Given the description of an element on the screen output the (x, y) to click on. 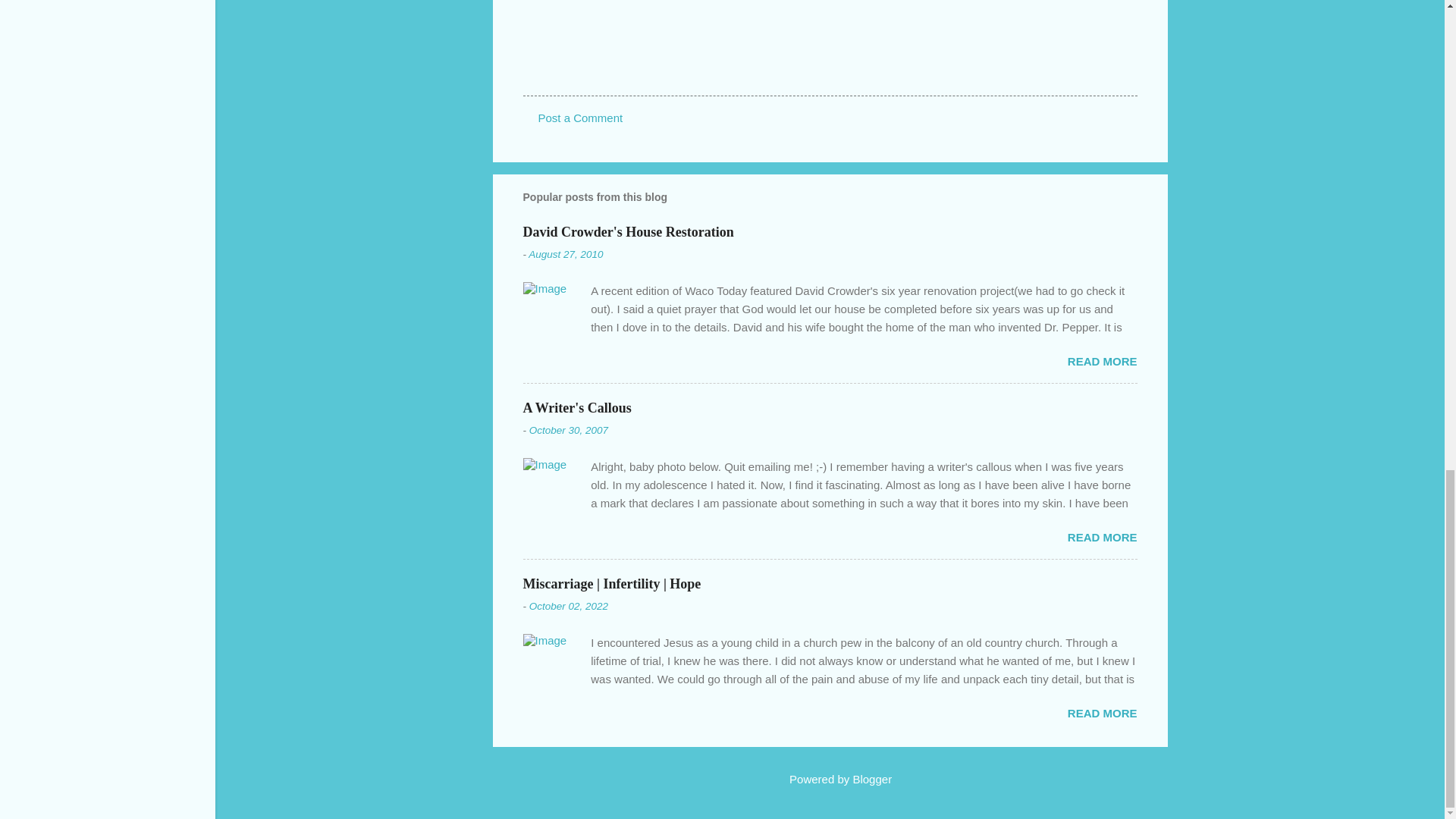
Post a Comment (580, 117)
Powered by Blogger (829, 779)
David Crowder's House Restoration (627, 231)
READ MORE (1102, 536)
READ MORE (1102, 360)
August 27, 2010 (565, 254)
Email Post (562, 68)
A Writer's Callous (576, 407)
permanent link (565, 254)
October 02, 2022 (568, 605)
